Given the description of an element on the screen output the (x, y) to click on. 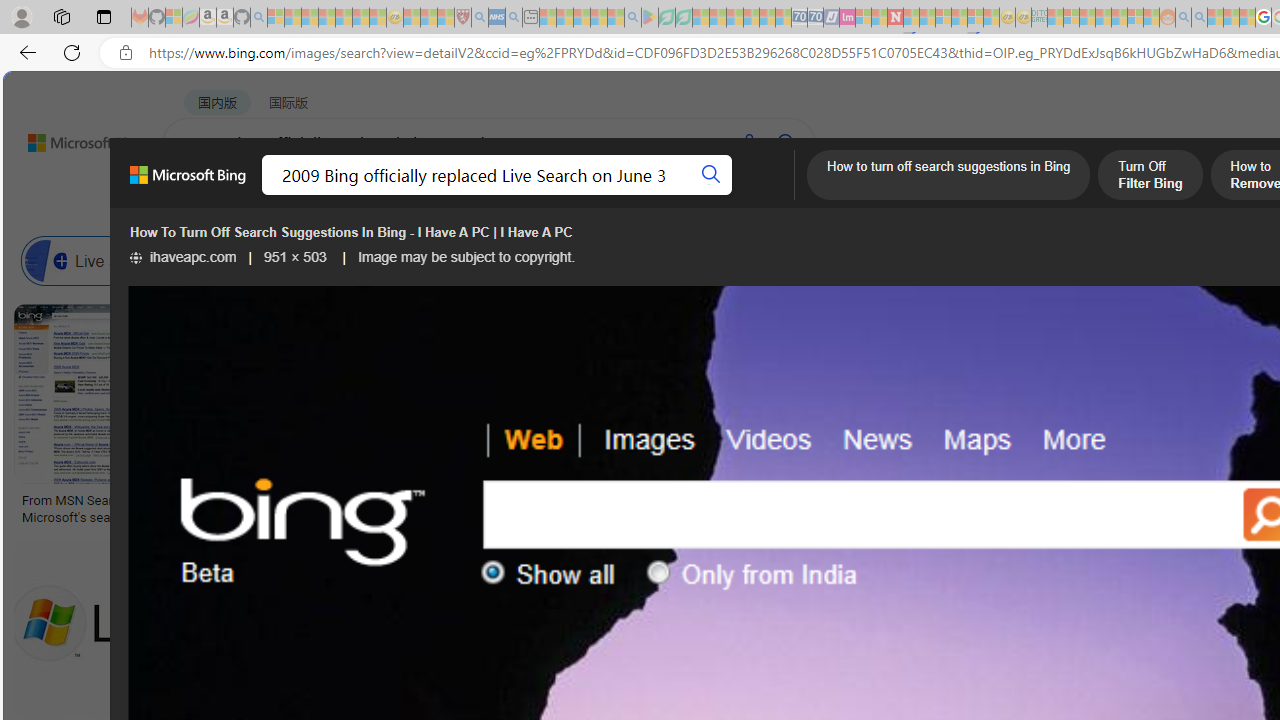
google - Search - Sleeping (632, 17)
Expert Portfolios - Sleeping (1103, 17)
Microsoft Live Logo (598, 500)
Class: b_pri_nav_svg (423, 196)
Live Search (100, 260)
